Given the description of an element on the screen output the (x, y) to click on. 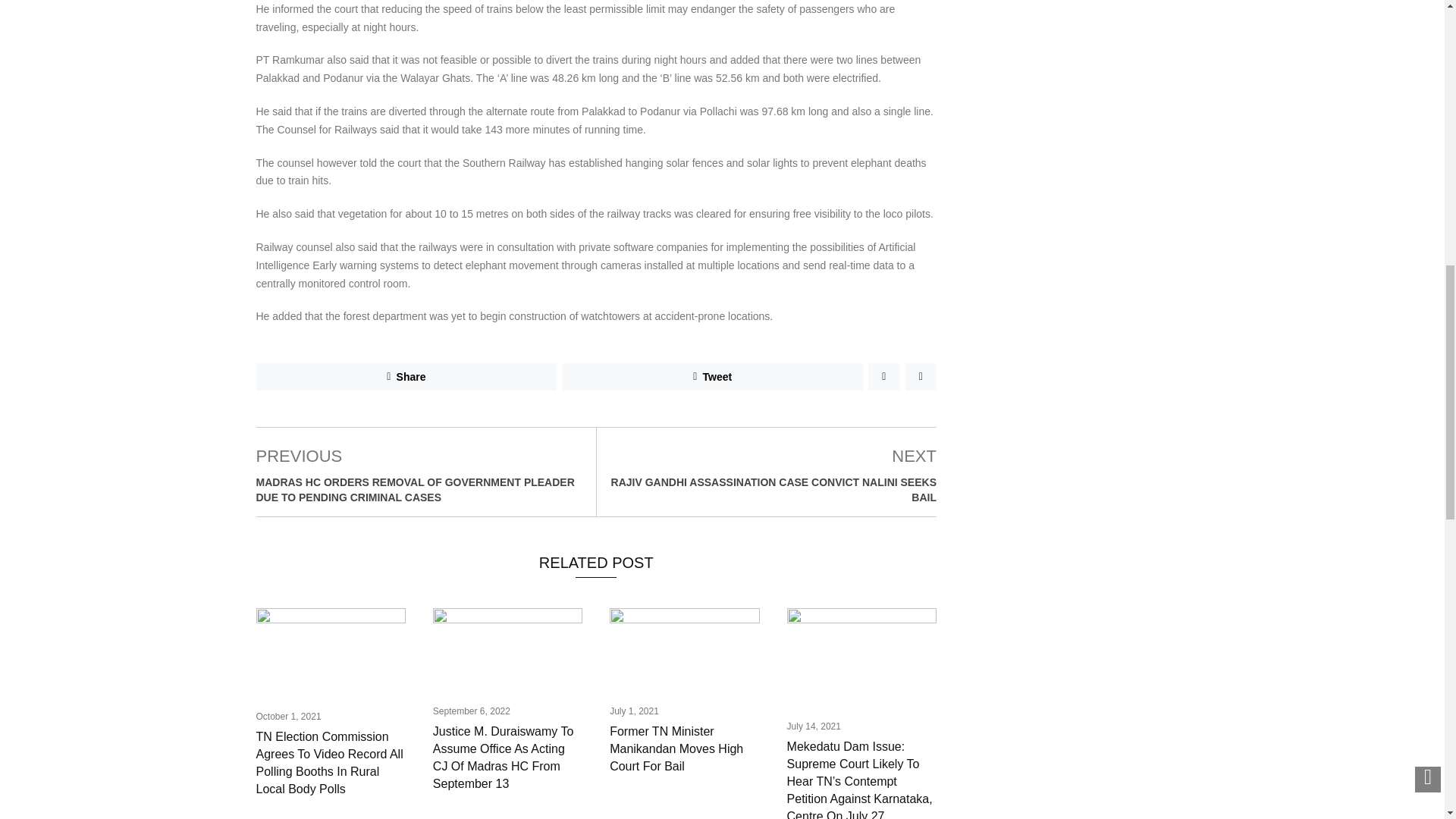
Former TN Minister Manikandan Moves High Court For Bail (676, 748)
RAJIV GANDHI ASSASSINATION CASE CONVICT NALINI SEEKS BAIL (773, 489)
Share (406, 376)
Rajiv Gandhi assassination case convict Nalini seeks bail (773, 489)
Tweet (712, 376)
